Given the description of an element on the screen output the (x, y) to click on. 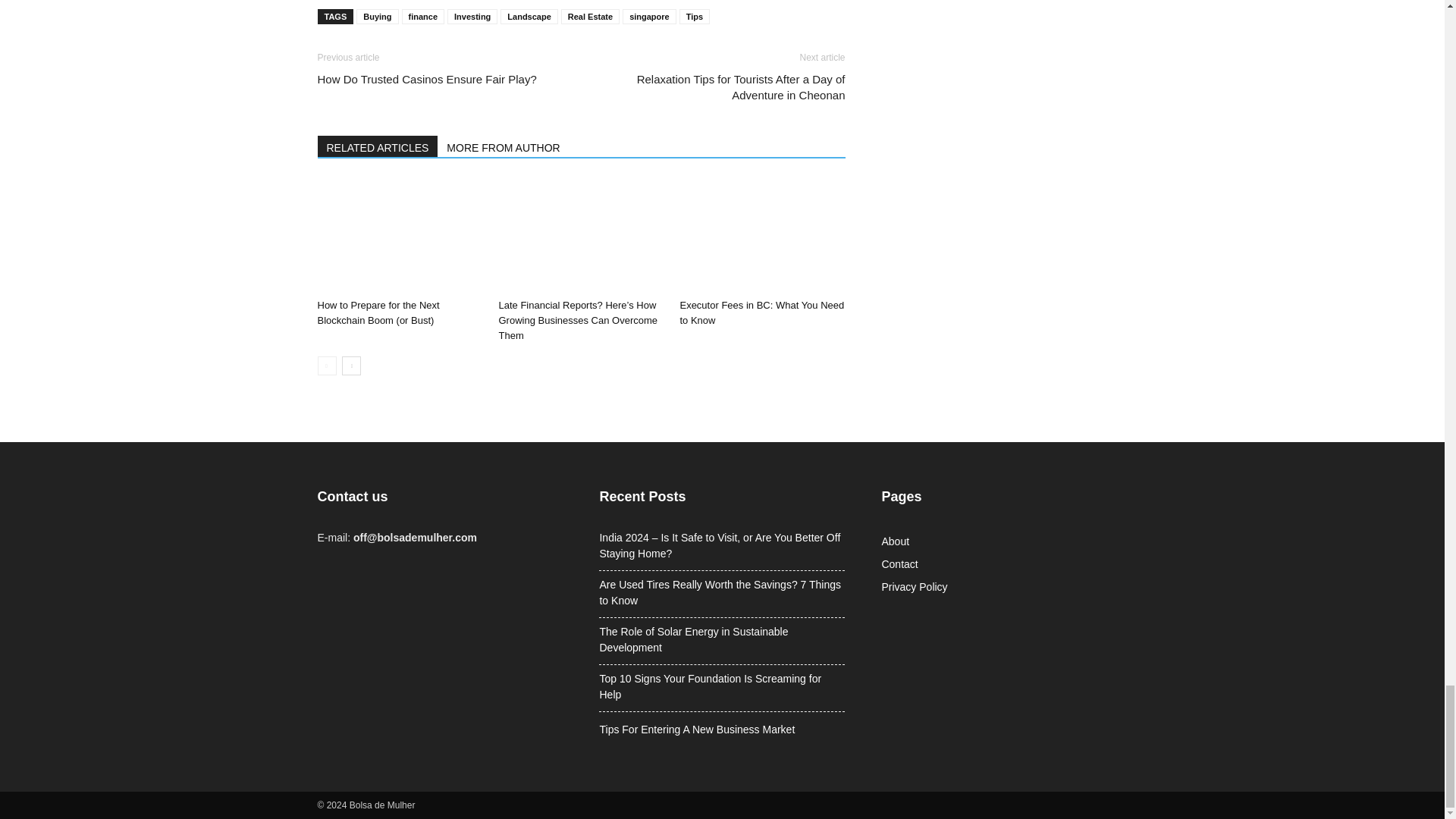
Executor Fees in BC: What You Need to Know (761, 235)
finance (423, 16)
Executor Fees in BC: What You Need to Know (761, 312)
Buying (376, 16)
Real Estate (590, 16)
Investing (471, 16)
singapore (650, 16)
Landscape (528, 16)
